Given the description of an element on the screen output the (x, y) to click on. 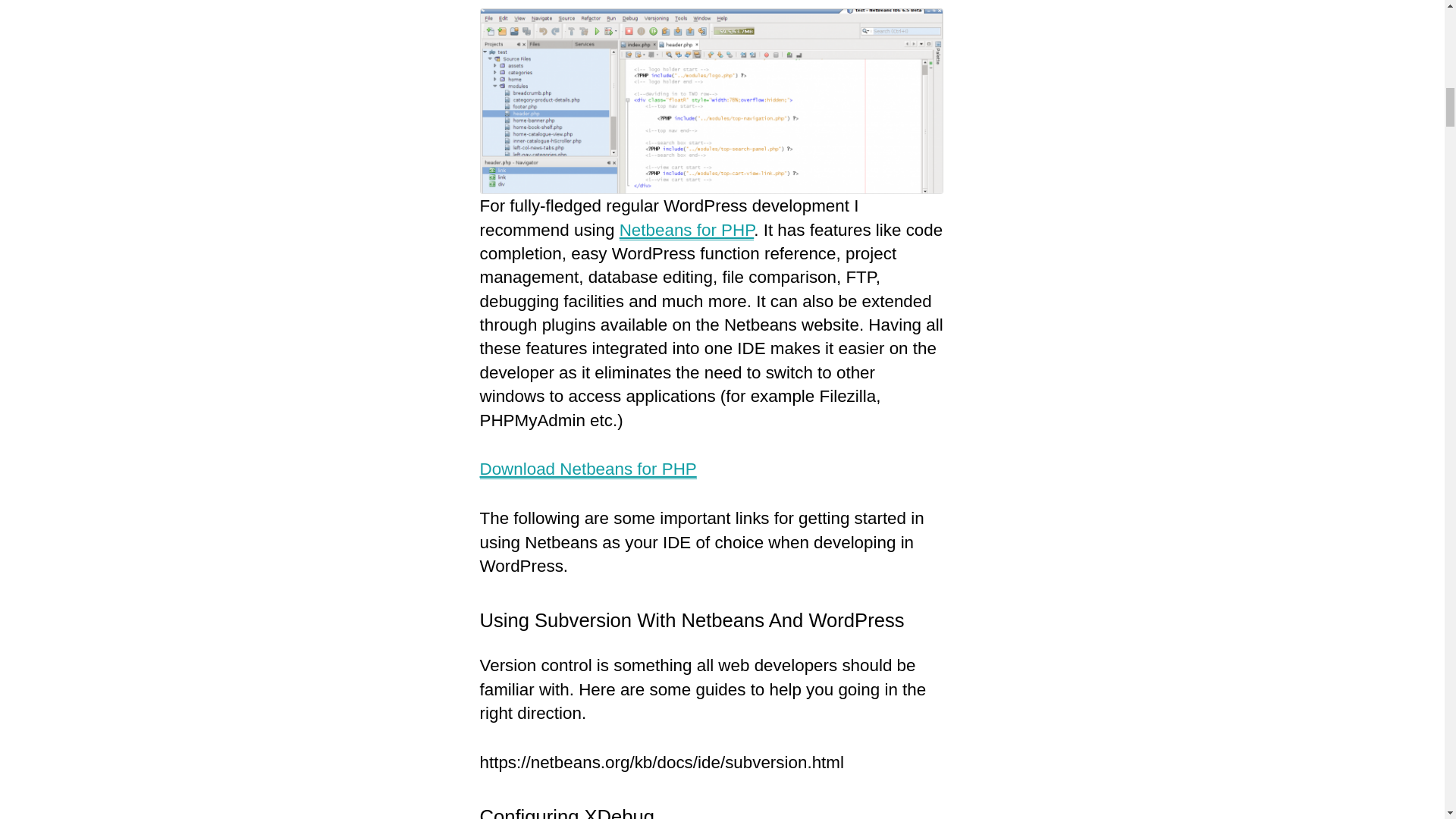
Netbeans for PHP (687, 230)
Download Netbeans for PHP (587, 469)
netbeans-screenshot (710, 101)
